Given the description of an element on the screen output the (x, y) to click on. 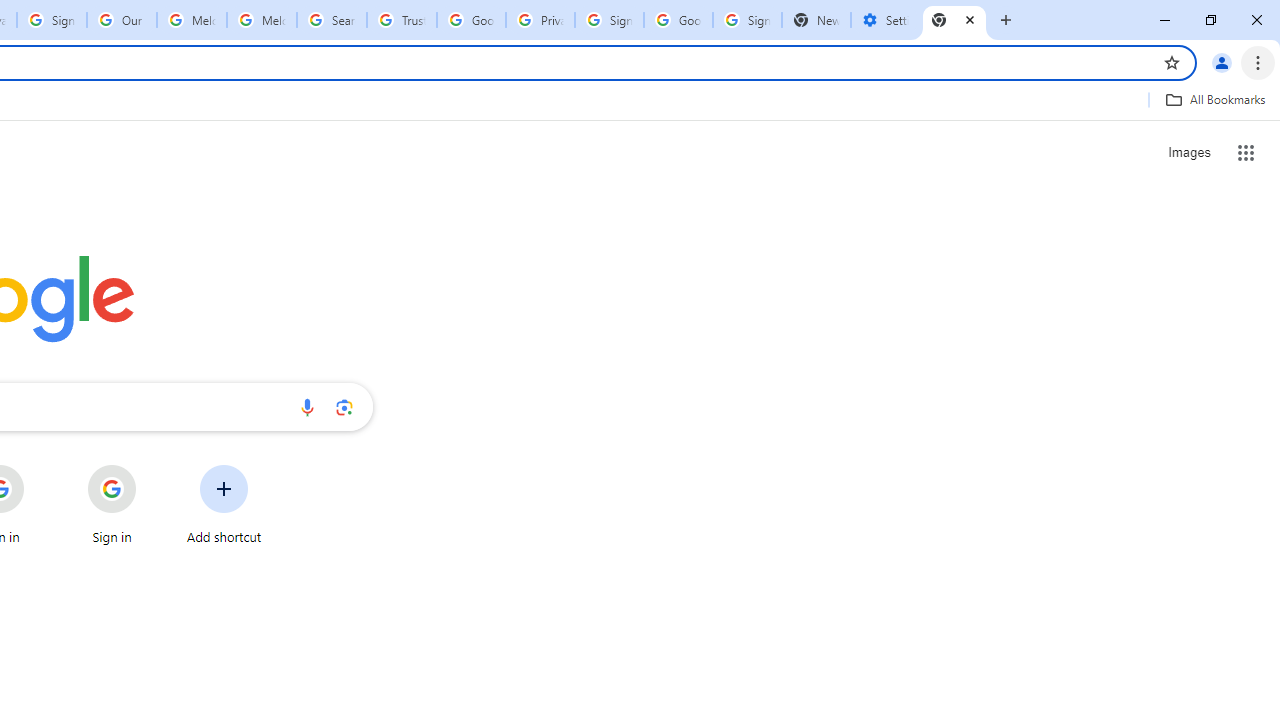
Search for Images  (1188, 152)
Sign in - Google Accounts (608, 20)
Google Cybersecurity Innovations - Google Safety Center (677, 20)
All Bookmarks (1215, 99)
Add shortcut (223, 504)
Trusted Information and Content - Google Safety Center (401, 20)
Sign in - Google Accounts (747, 20)
Google Ads - Sign in (470, 20)
